Given the description of an element on the screen output the (x, y) to click on. 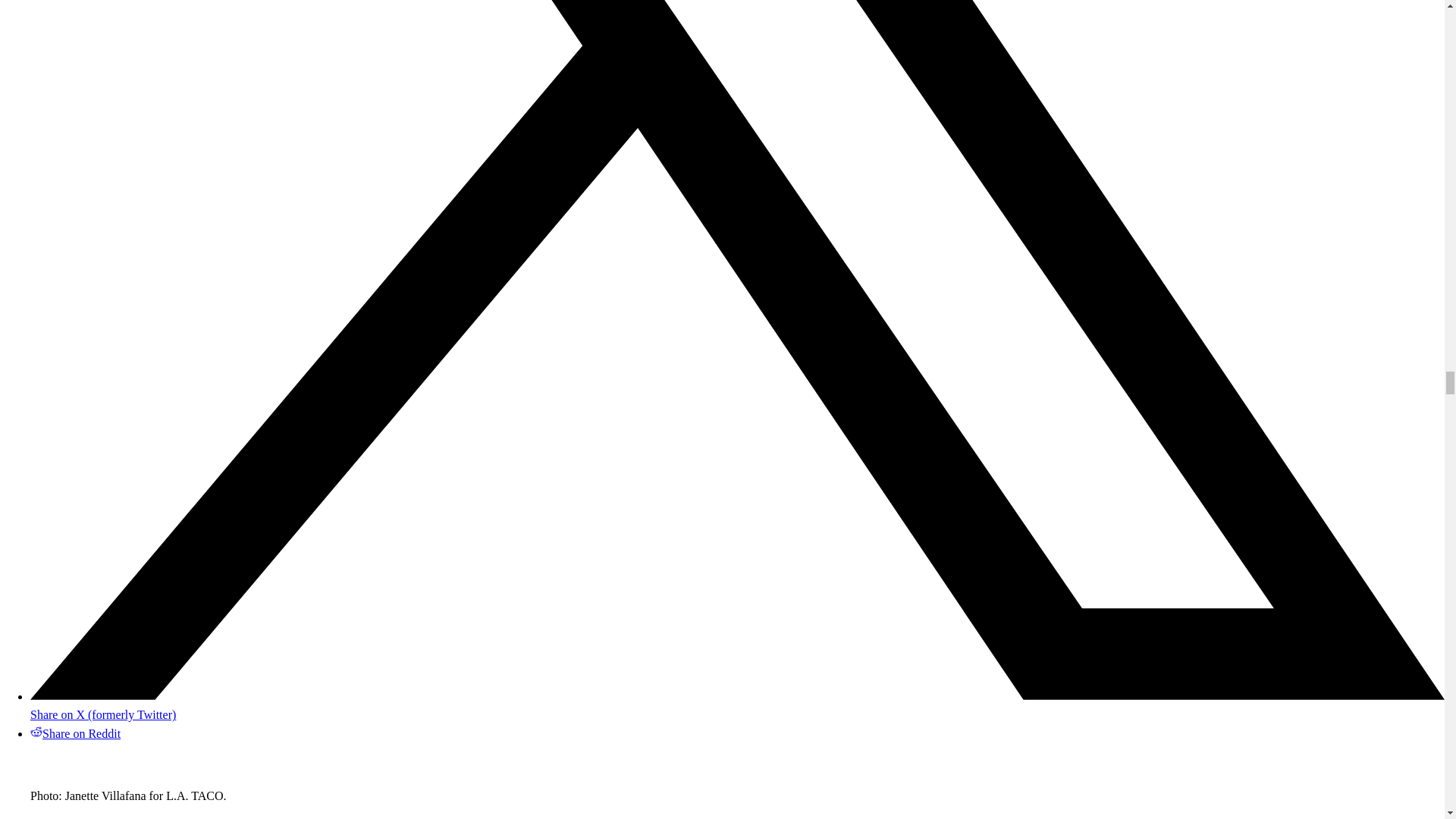
Share on Reddit (75, 733)
